Given the description of an element on the screen output the (x, y) to click on. 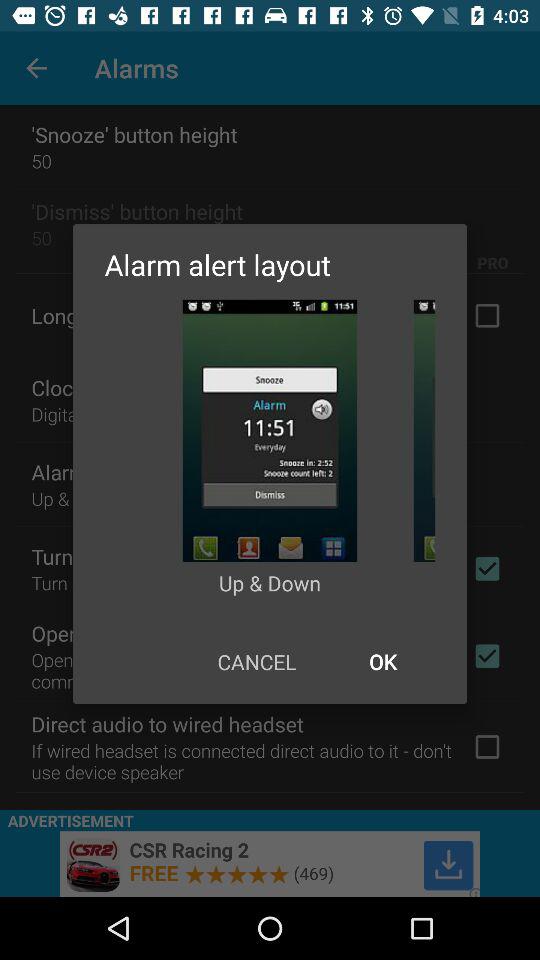
flip until the cancel icon (256, 661)
